Given the description of an element on the screen output the (x, y) to click on. 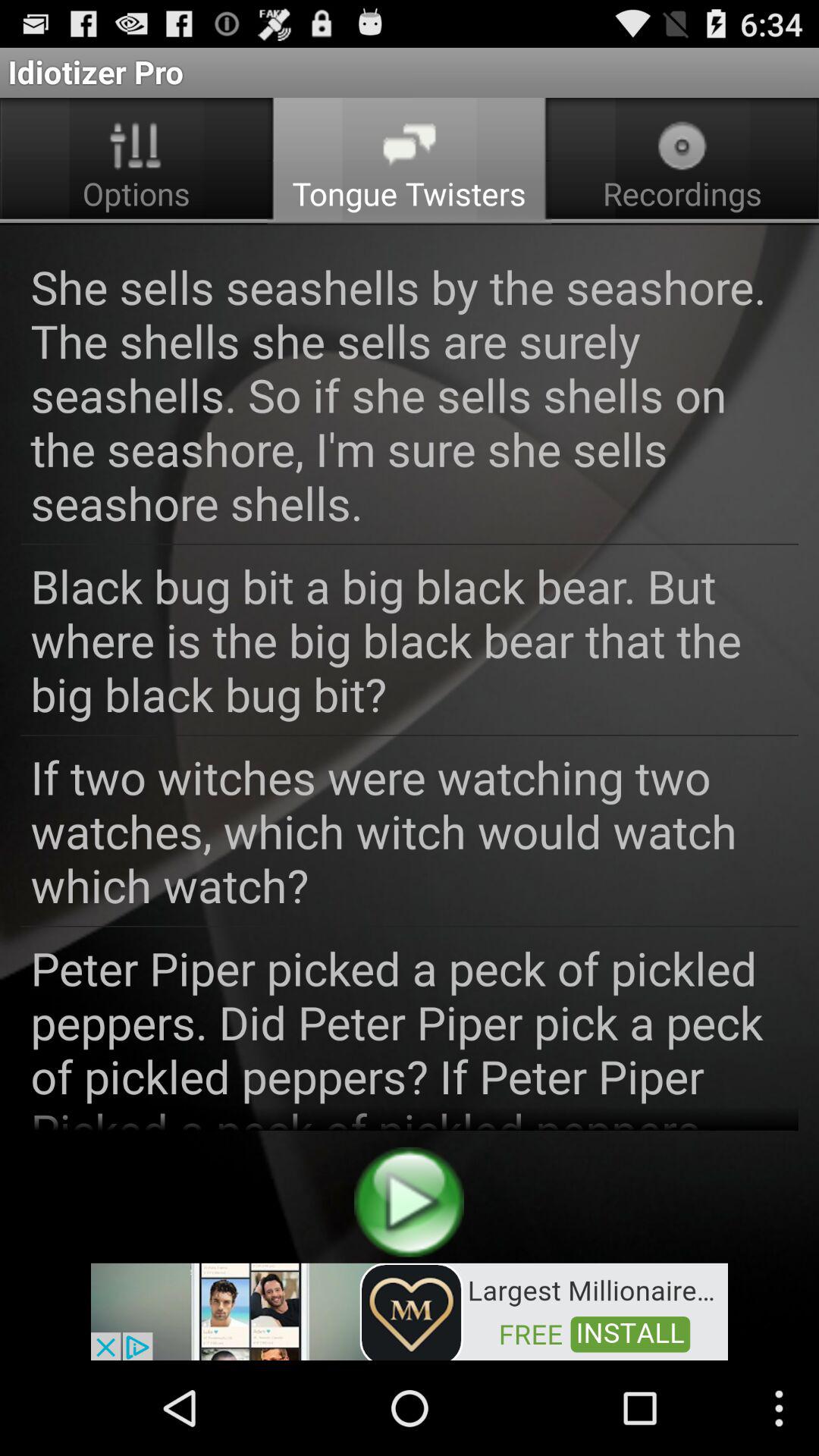
to view add (409, 1310)
